Given the description of an element on the screen output the (x, y) to click on. 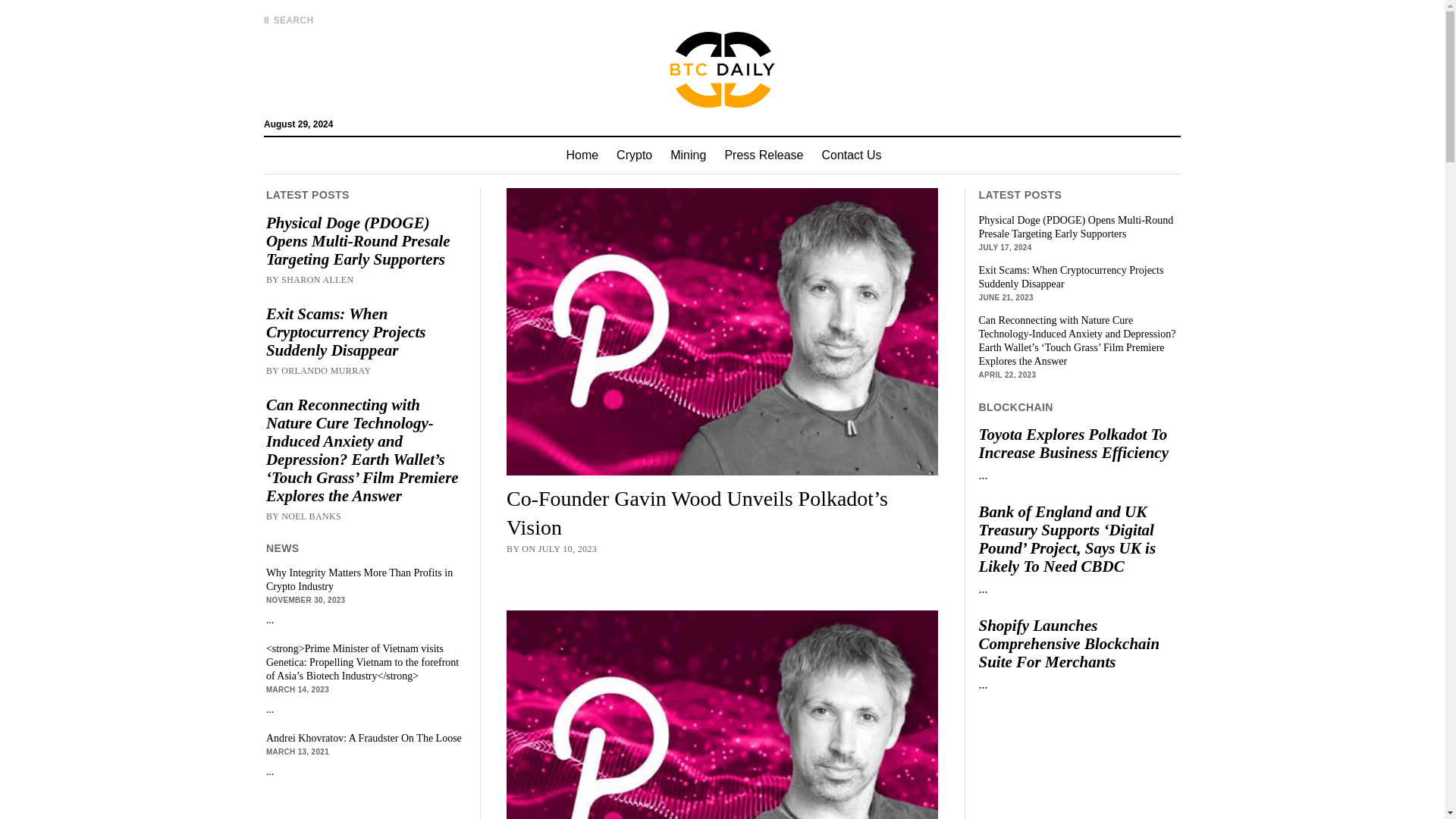
Contact Us (850, 155)
Exit Scams: When Cryptocurrency Projects Suddenly Disappear (365, 331)
Search (945, 129)
Home (581, 155)
SEARCH (288, 20)
Exit Scams: When Cryptocurrency Projects Suddenly Disappear (1078, 277)
Mining (687, 155)
Andrei Khovratov: A Fraudster On The Loose (365, 738)
Why Integrity Matters More Than Profits in Crypto Industry (365, 579)
Press Release (763, 155)
